Given the description of an element on the screen output the (x, y) to click on. 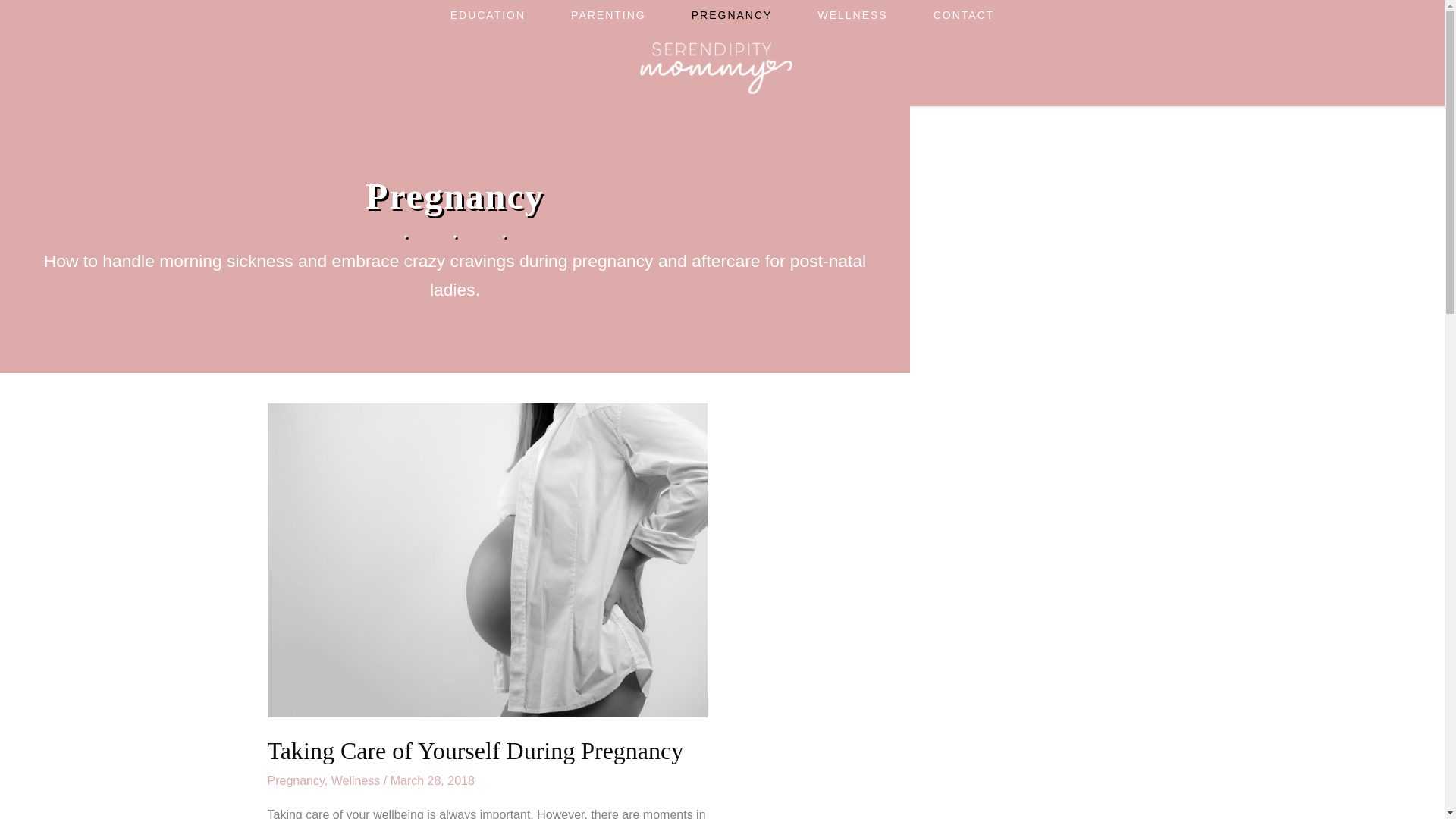
Wellness (355, 780)
CONTACT (964, 15)
Taking Care of Yourself During Pregnancy (474, 750)
PARENTING (608, 15)
Pregnancy (294, 780)
EDUCATION (488, 15)
PREGNANCY (731, 15)
WELLNESS (852, 15)
